Given the description of an element on the screen output the (x, y) to click on. 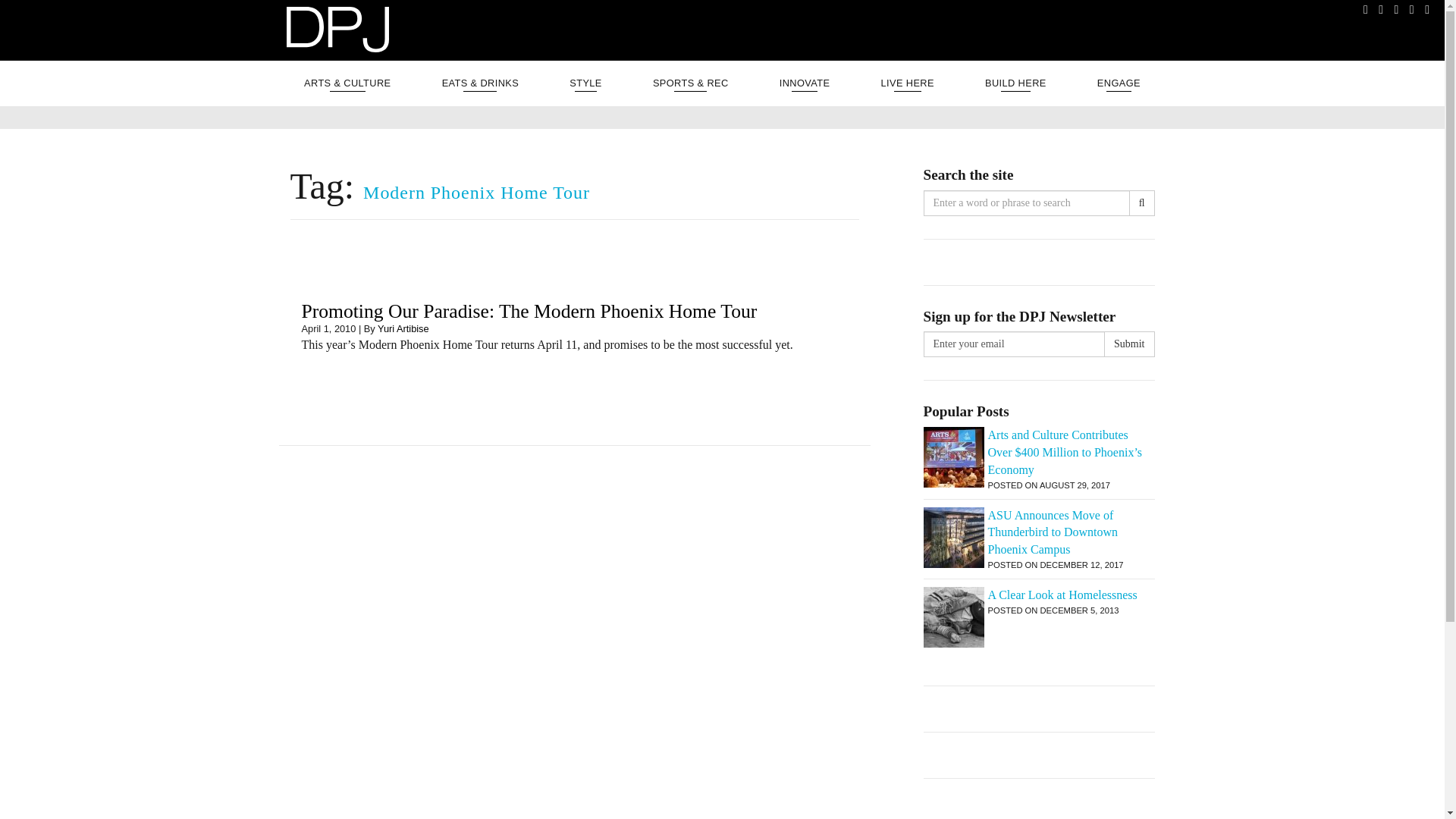
Yuri Artibise (403, 328)
Submit (1128, 344)
STYLE (585, 83)
A Clear Look at Homelessness (1038, 595)
ENGAGE (1118, 83)
Promoting Our Paradise: The Modern Phoenix Home Tour (529, 311)
LIVE HERE (907, 83)
INNOVATE (805, 83)
Enter your email (1014, 344)
Posts by Yuri Artibise (403, 328)
